Given the description of an element on the screen output the (x, y) to click on. 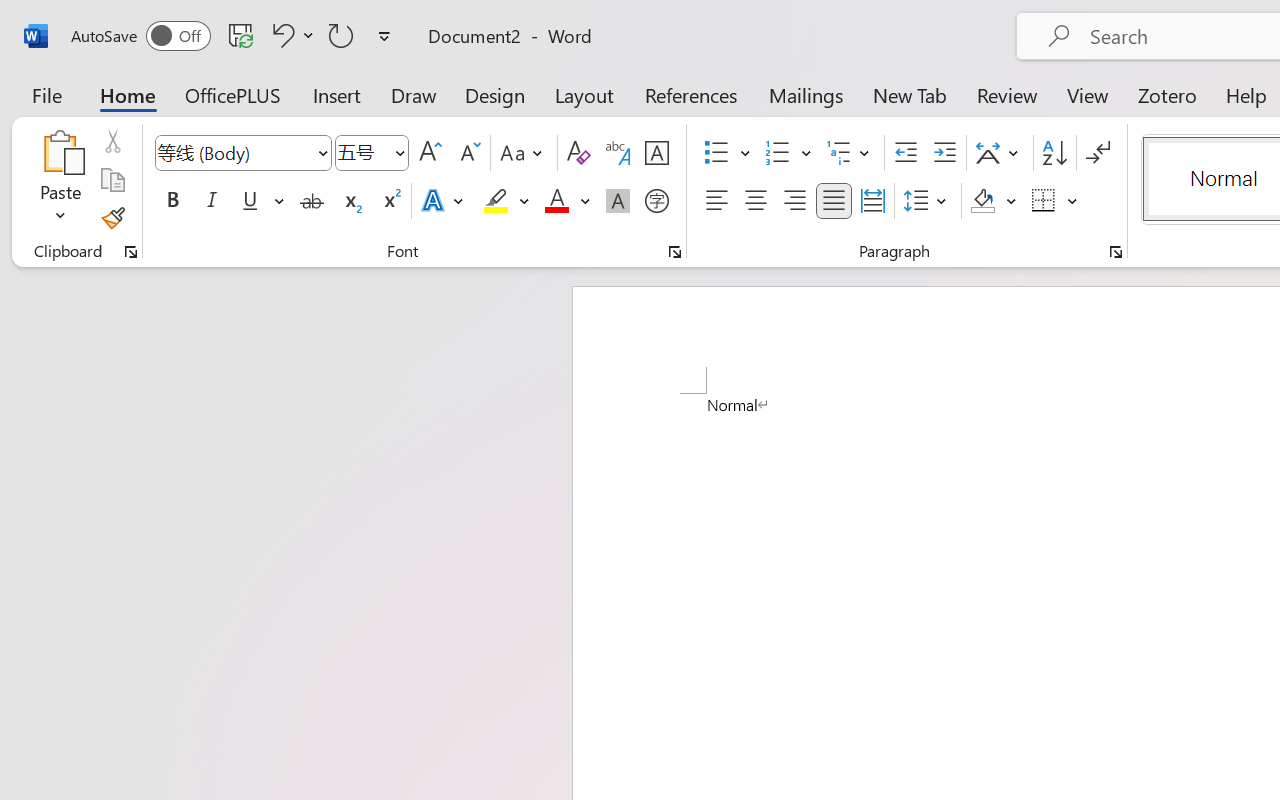
Font Color (567, 201)
Save (241, 35)
Shading (993, 201)
Multilevel List (850, 153)
Justify (834, 201)
Review (1007, 94)
Format Painter (112, 218)
Borders (1044, 201)
Change Case (524, 153)
Undo Apply Quick Style (290, 35)
Font (242, 153)
Text Highlight Color (506, 201)
Bold (172, 201)
